Given the description of an element on the screen output the (x, y) to click on. 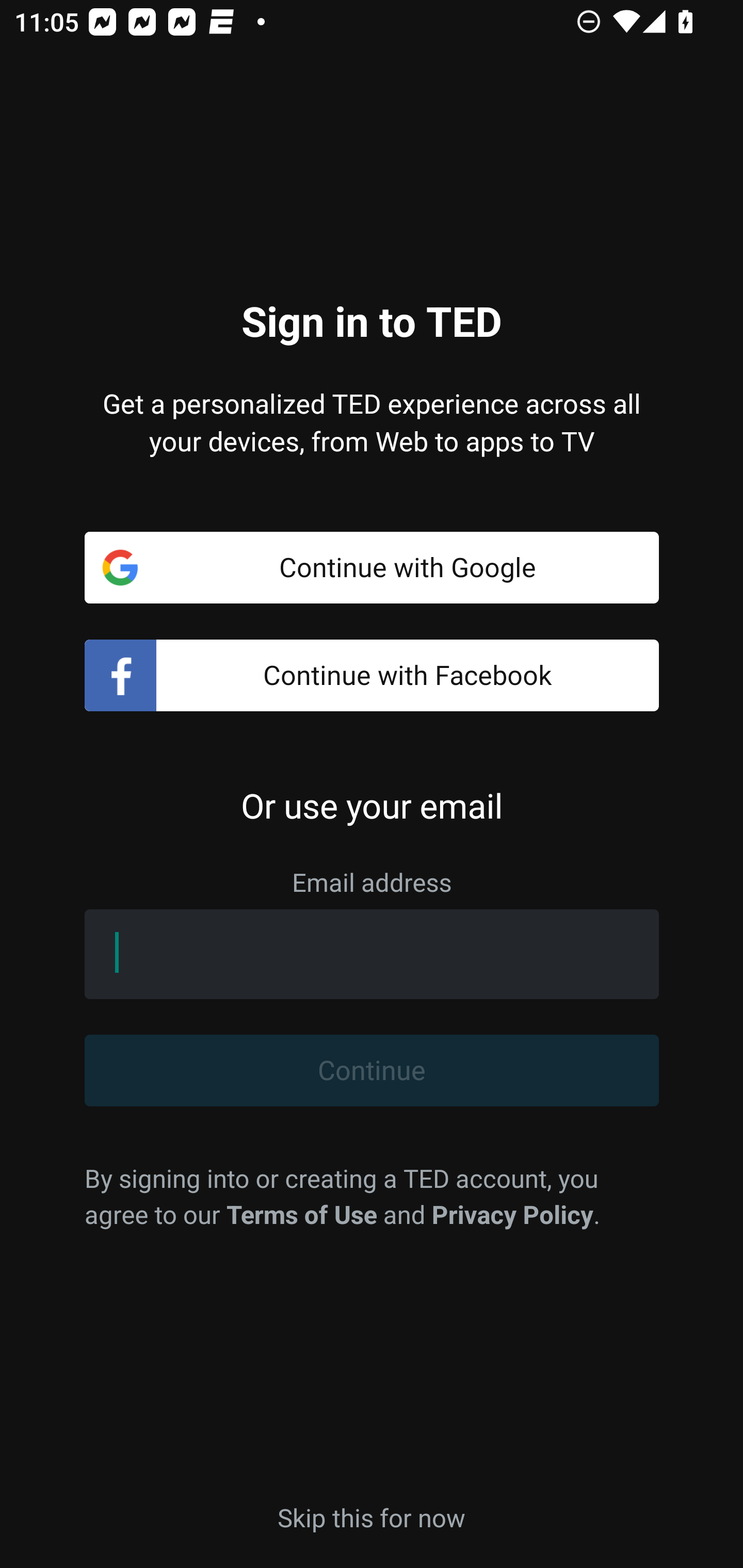
Continue with Google (371, 567)
Continue with Facebook (371, 675)
Continue (371, 1070)
Skip this for now (371, 1516)
